Given the description of an element on the screen output the (x, y) to click on. 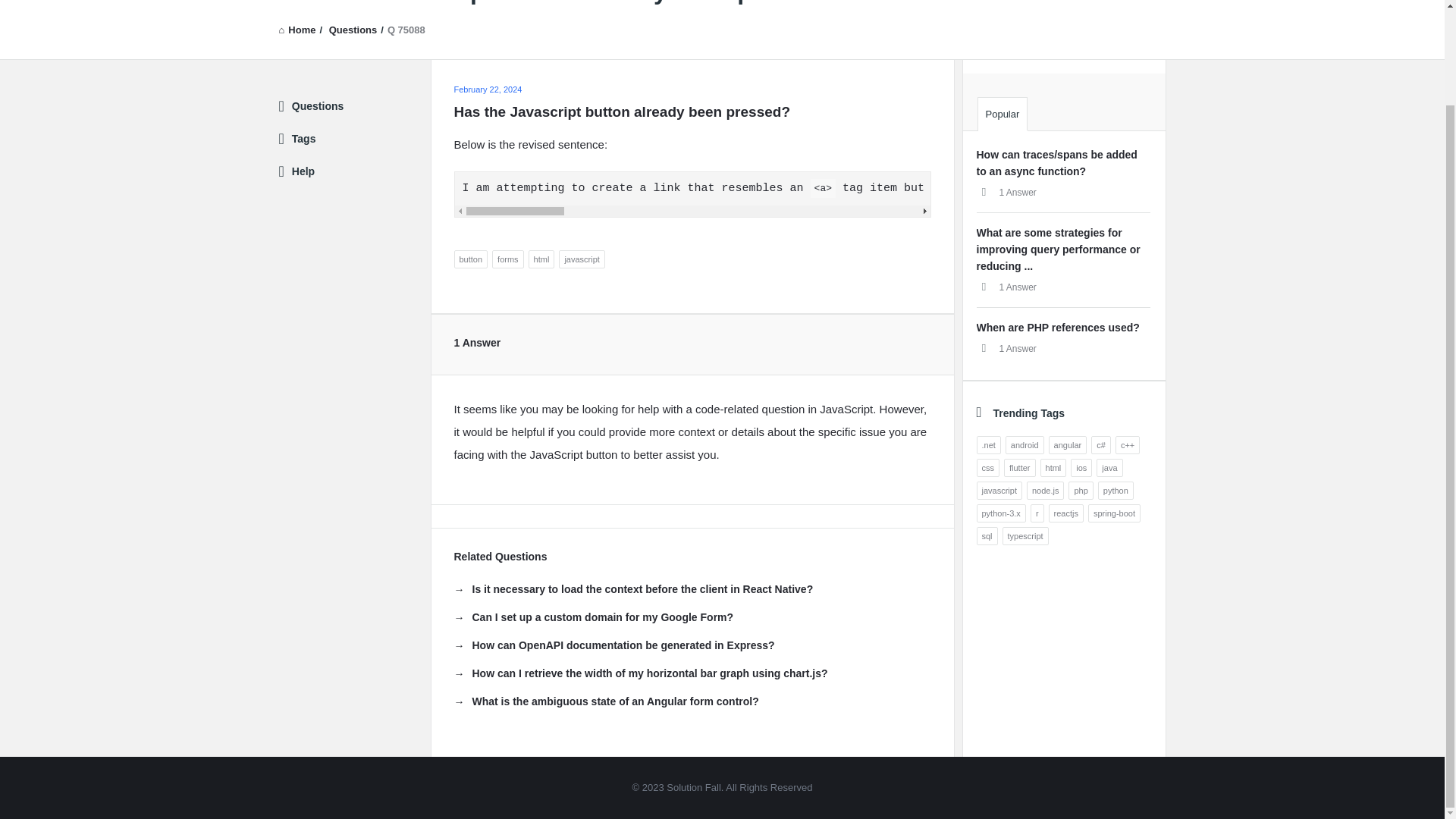
Questions (353, 30)
forms (508, 259)
Home (297, 30)
javascript (581, 259)
html (541, 259)
February 22, 2024 (486, 89)
Questions (353, 30)
Home (297, 30)
button (469, 259)
How can OpenAPI documentation be generated in Express? (613, 645)
Can I set up a custom domain for my Google Form? (592, 617)
